Given the description of an element on the screen output the (x, y) to click on. 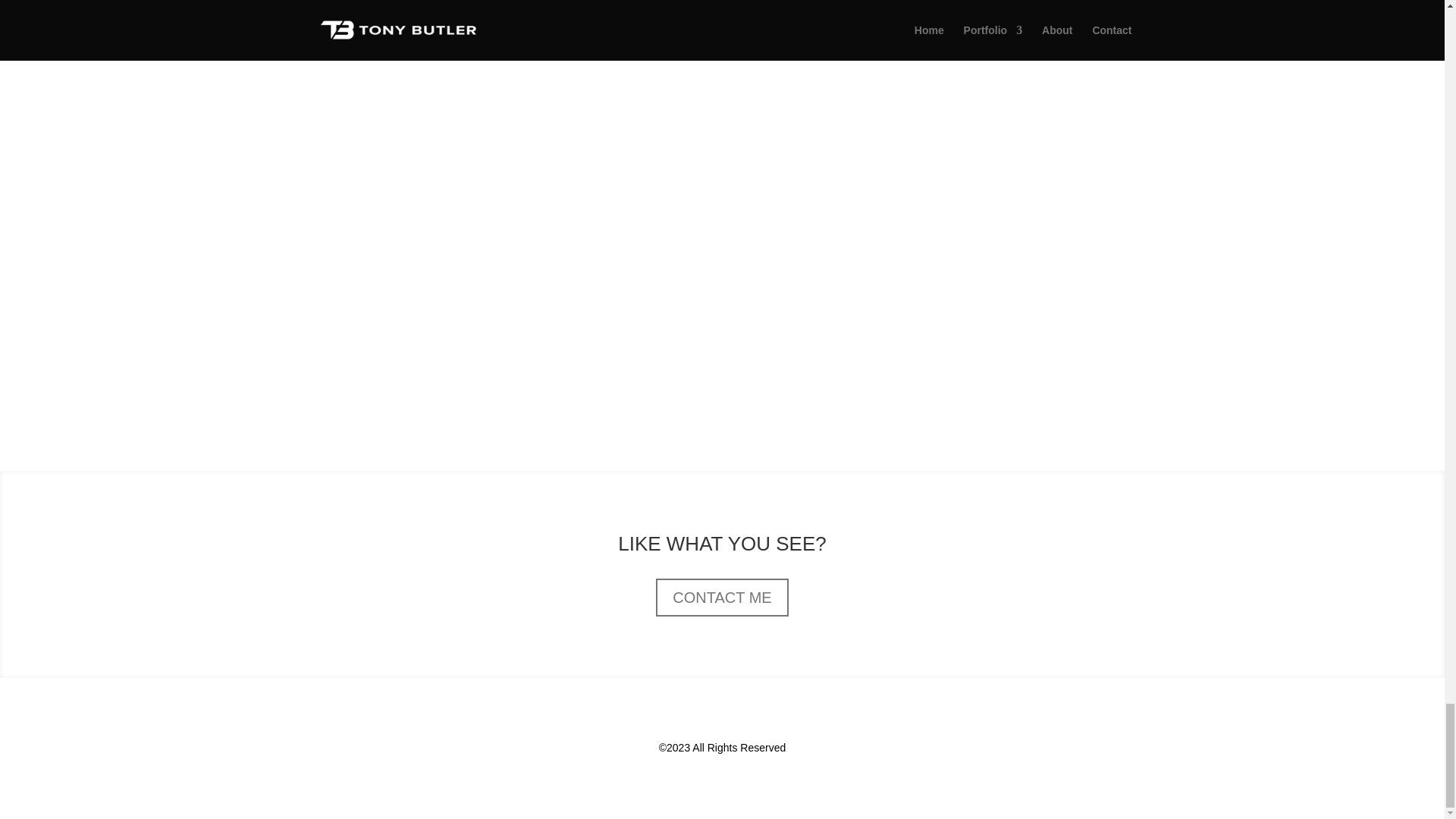
CONTACT ME (721, 597)
